Given the description of an element on the screen output the (x, y) to click on. 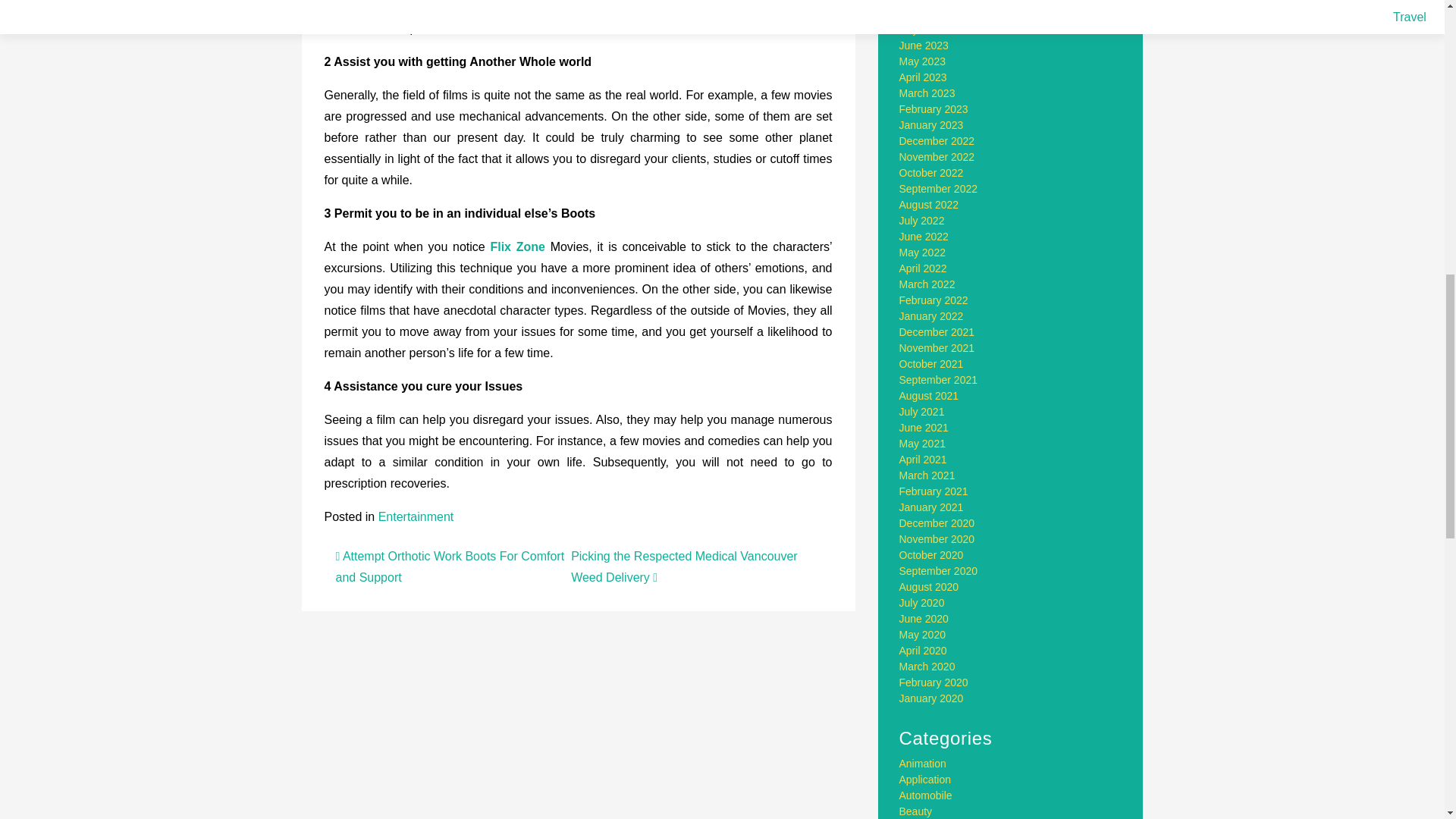
Picking the Respected Medical Vancouver Weed Delivery  (683, 566)
June 2023 (924, 45)
July 2022 (921, 220)
February 2023 (933, 109)
October 2022 (931, 173)
March 2023 (927, 92)
Entertainment (416, 516)
September 2022 (938, 188)
April 2023 (923, 77)
November 2022 (937, 156)
